Given the description of an element on the screen output the (x, y) to click on. 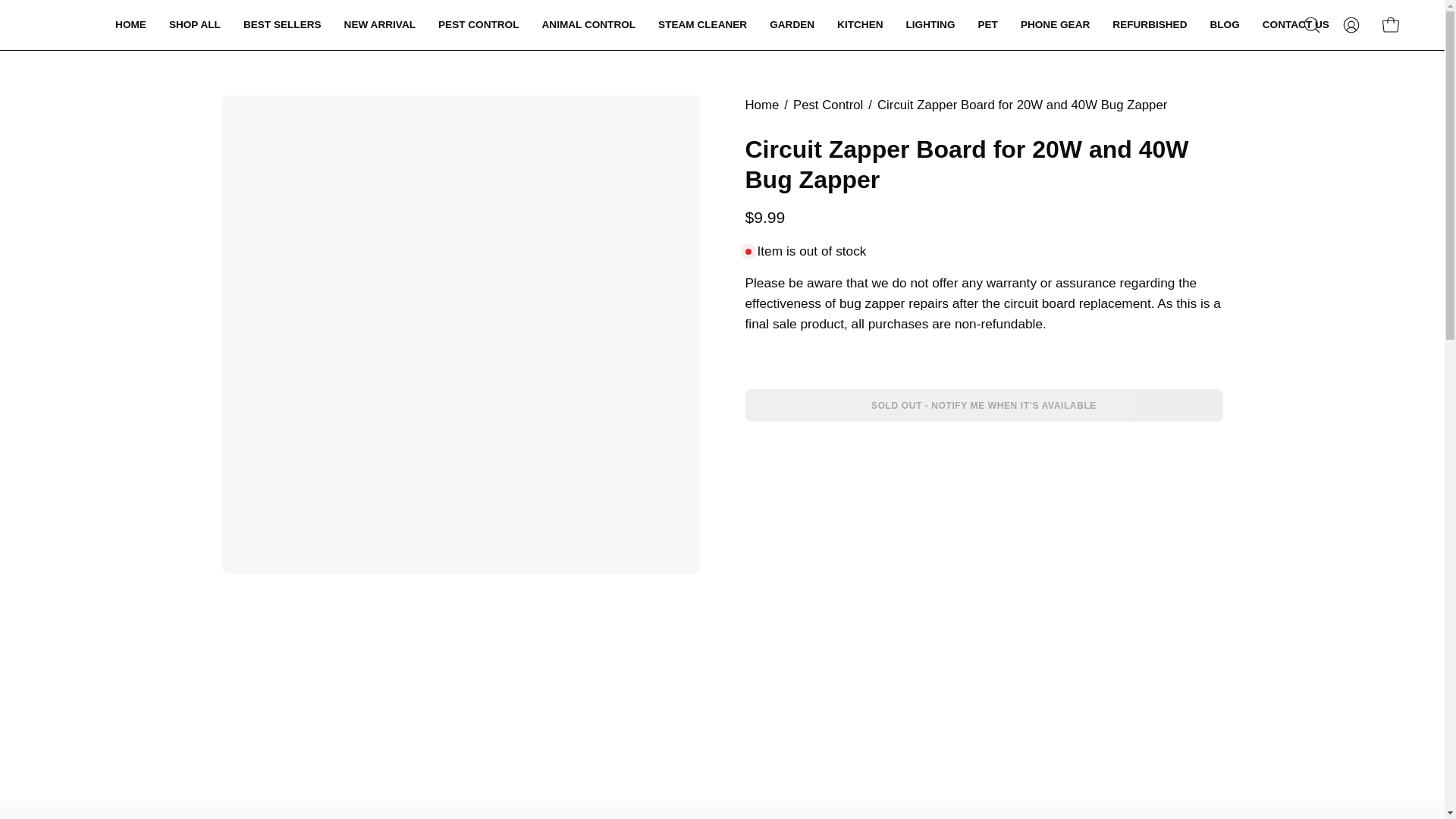
Go back to Home page (761, 105)
Open search bar (1311, 24)
